Given the description of an element on the screen output the (x, y) to click on. 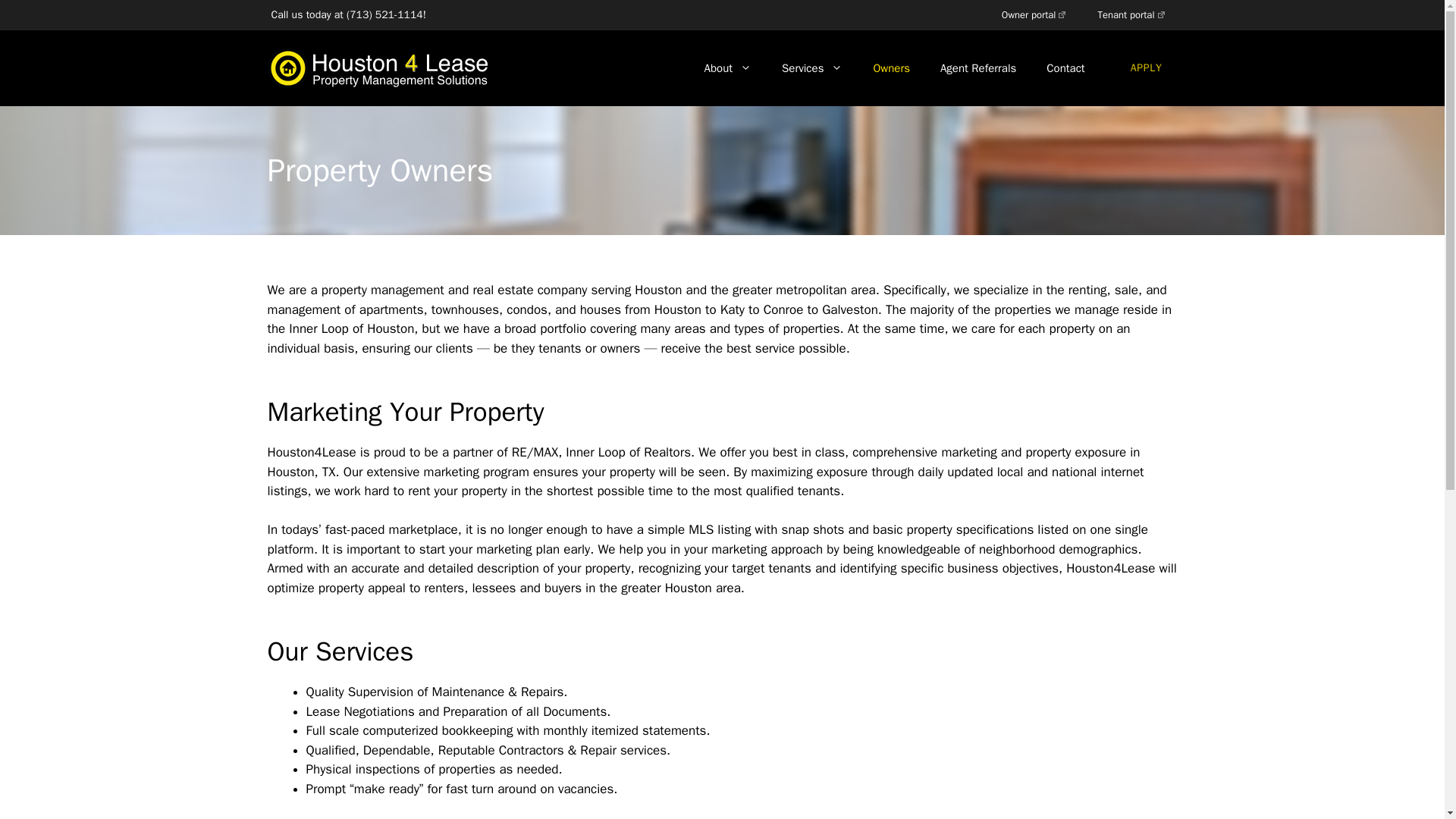
Contact (1064, 67)
Owners (890, 67)
APPLY (1146, 68)
Tenant portal (1130, 15)
About (727, 67)
Owner portal (1035, 15)
Agent Referrals (977, 67)
Services (812, 67)
